Given the description of an element on the screen output the (x, y) to click on. 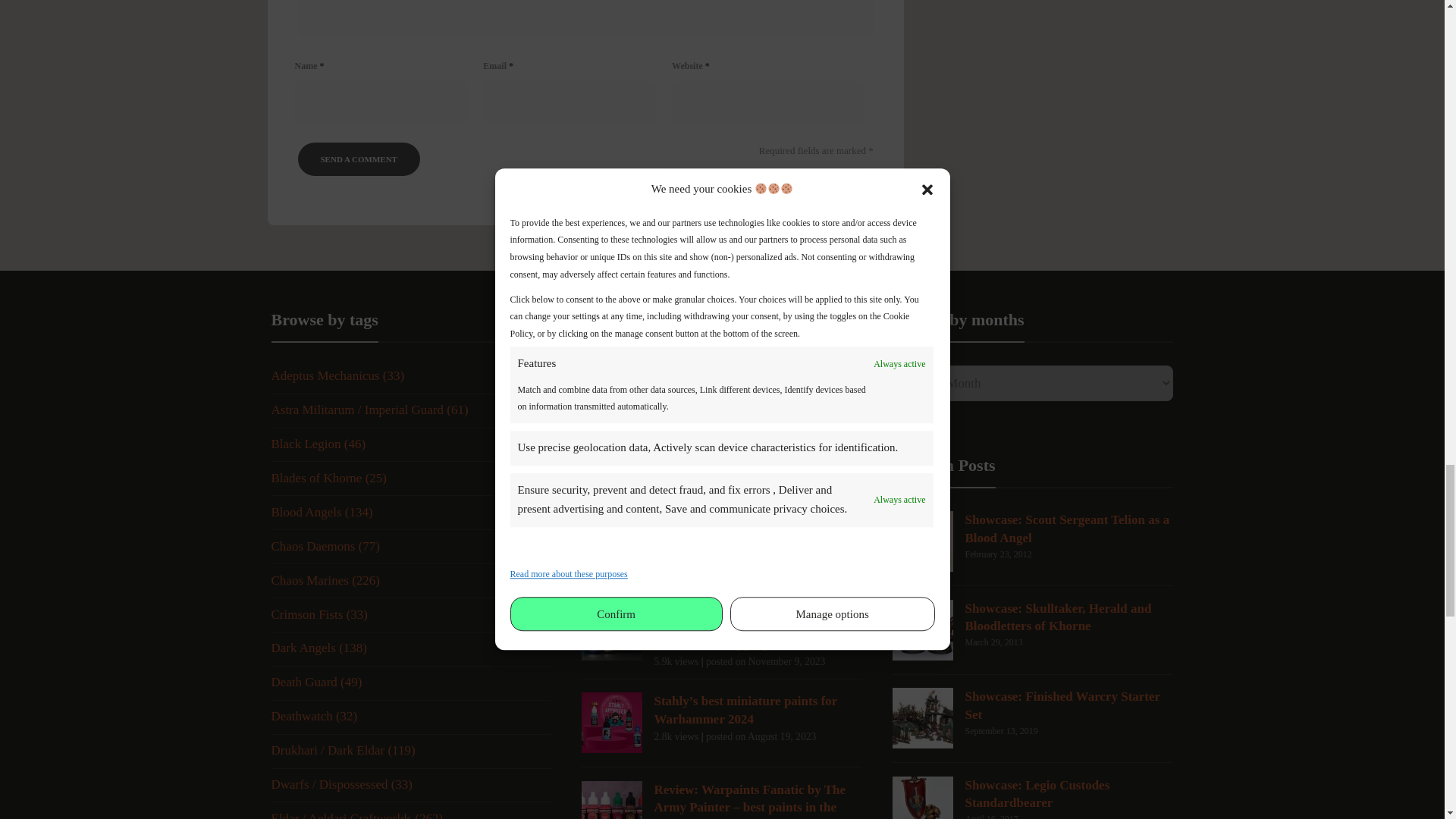
Send a comment (358, 159)
